Given the description of an element on the screen output the (x, y) to click on. 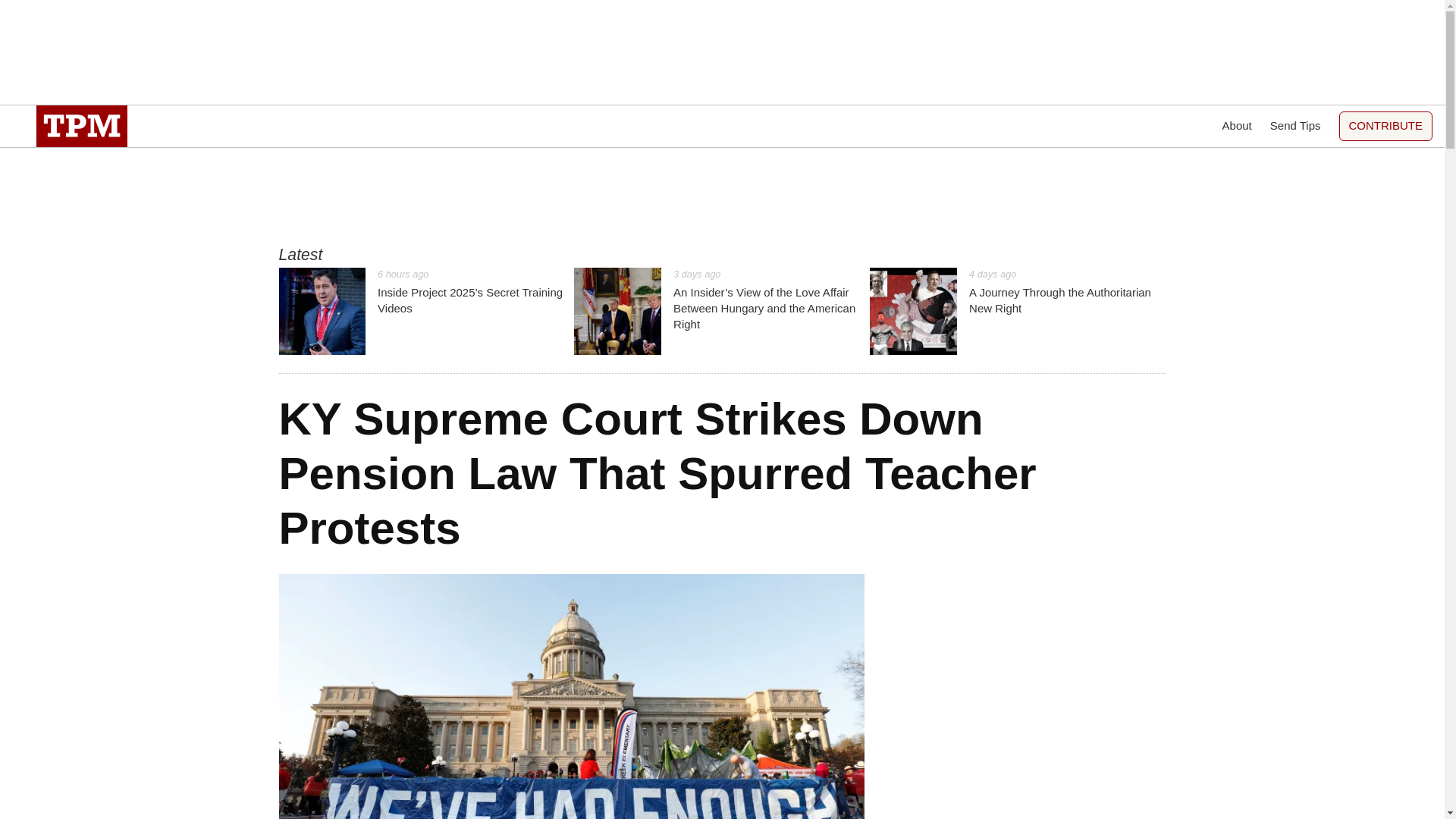
CONTRIBUTE (1385, 125)
Send Tips (1294, 125)
About (1237, 125)
